Given the description of an element on the screen output the (x, y) to click on. 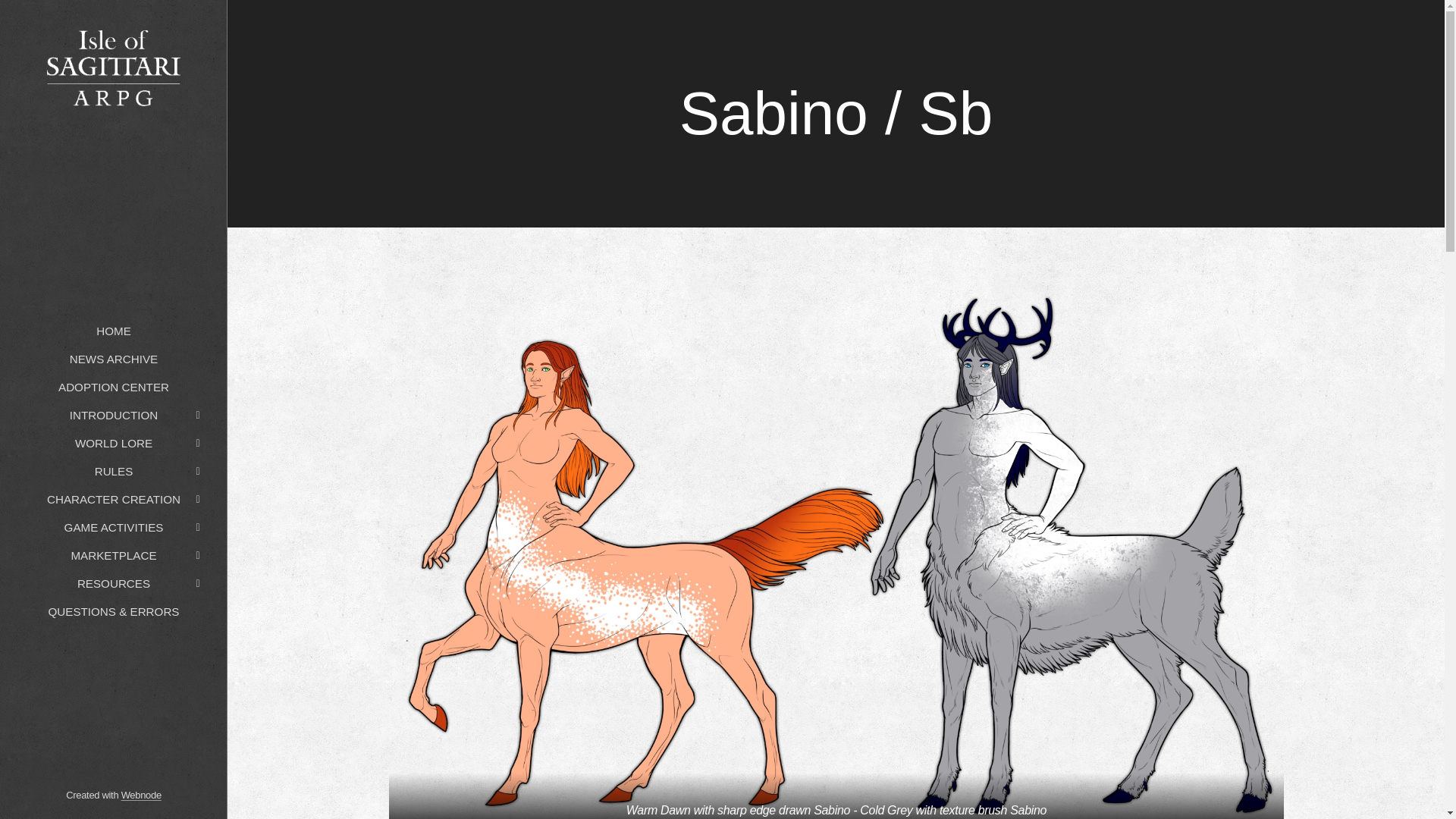
ADOPTION CENTER (113, 386)
WORLD LORE (113, 443)
GAME ACTIVITIES (113, 527)
HOME (113, 330)
CHARACTER CREATION (113, 498)
INTRODUCTION (113, 415)
NEWS ARCHIVE (113, 358)
RULES (113, 470)
